Given the description of an element on the screen output the (x, y) to click on. 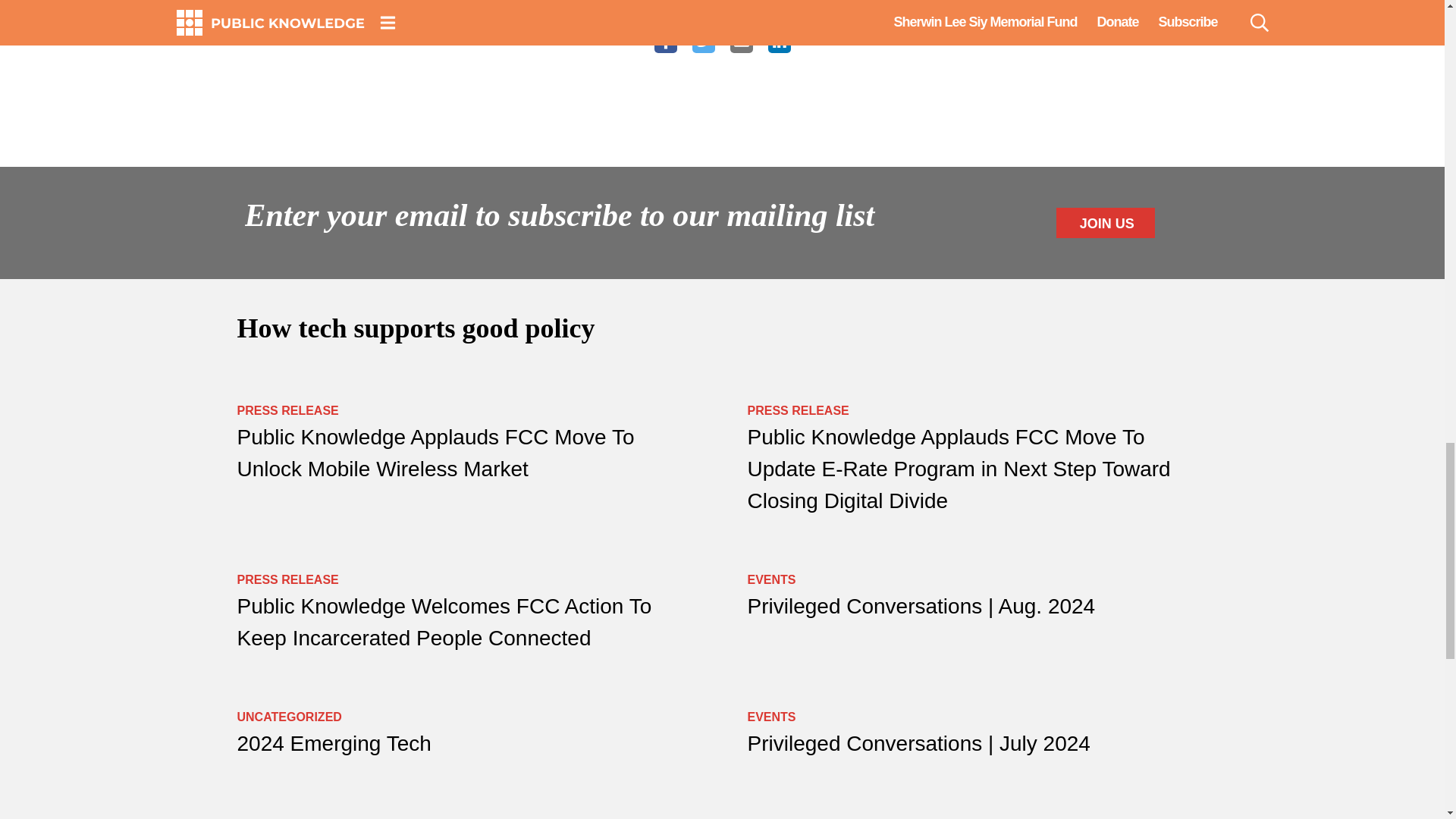
Join Us (1105, 223)
